Given the description of an element on the screen output the (x, y) to click on. 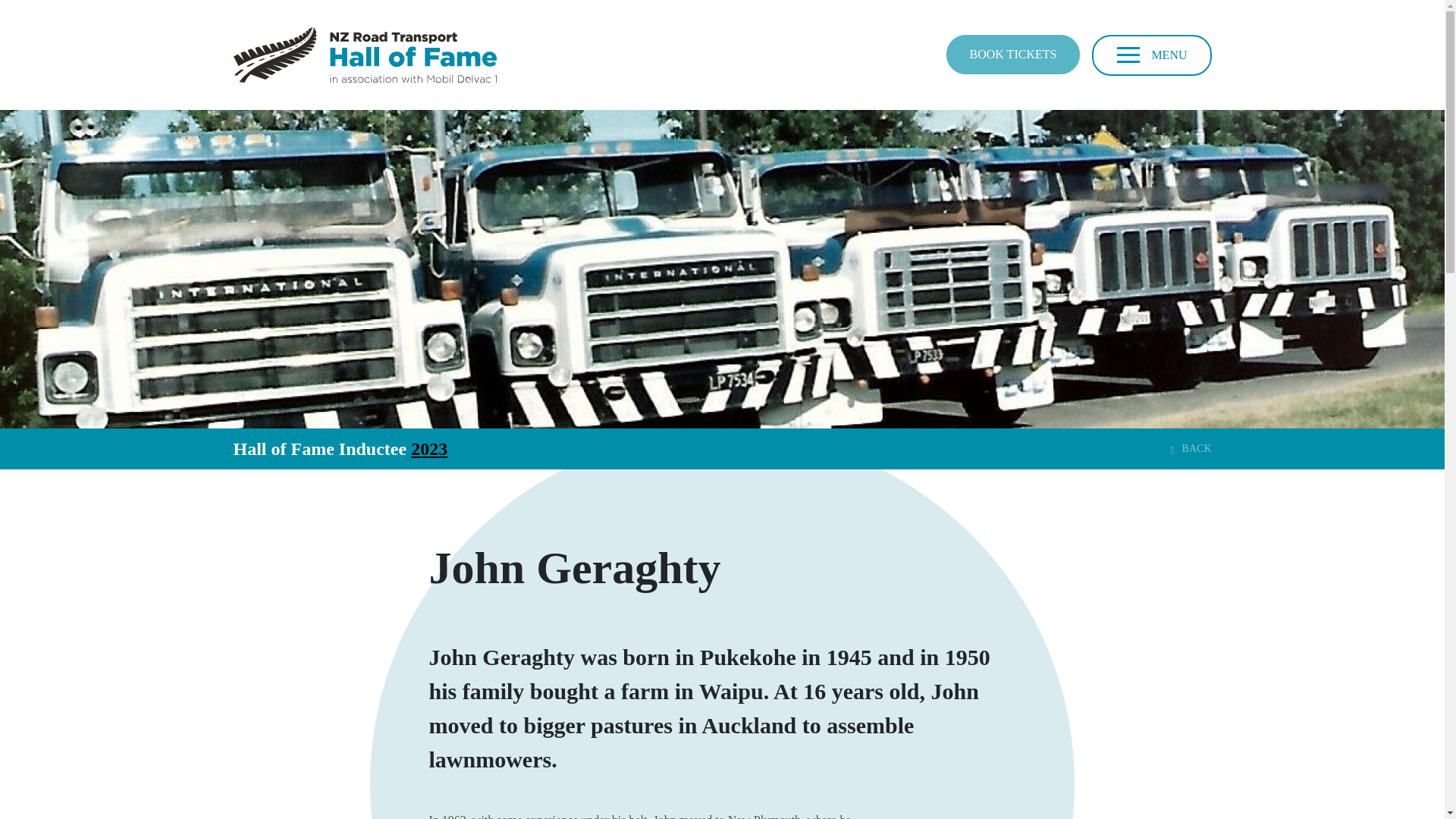
2023 (428, 448)
BOOK TICKETS (1013, 54)
BACK (1194, 447)
